Given the description of an element on the screen output the (x, y) to click on. 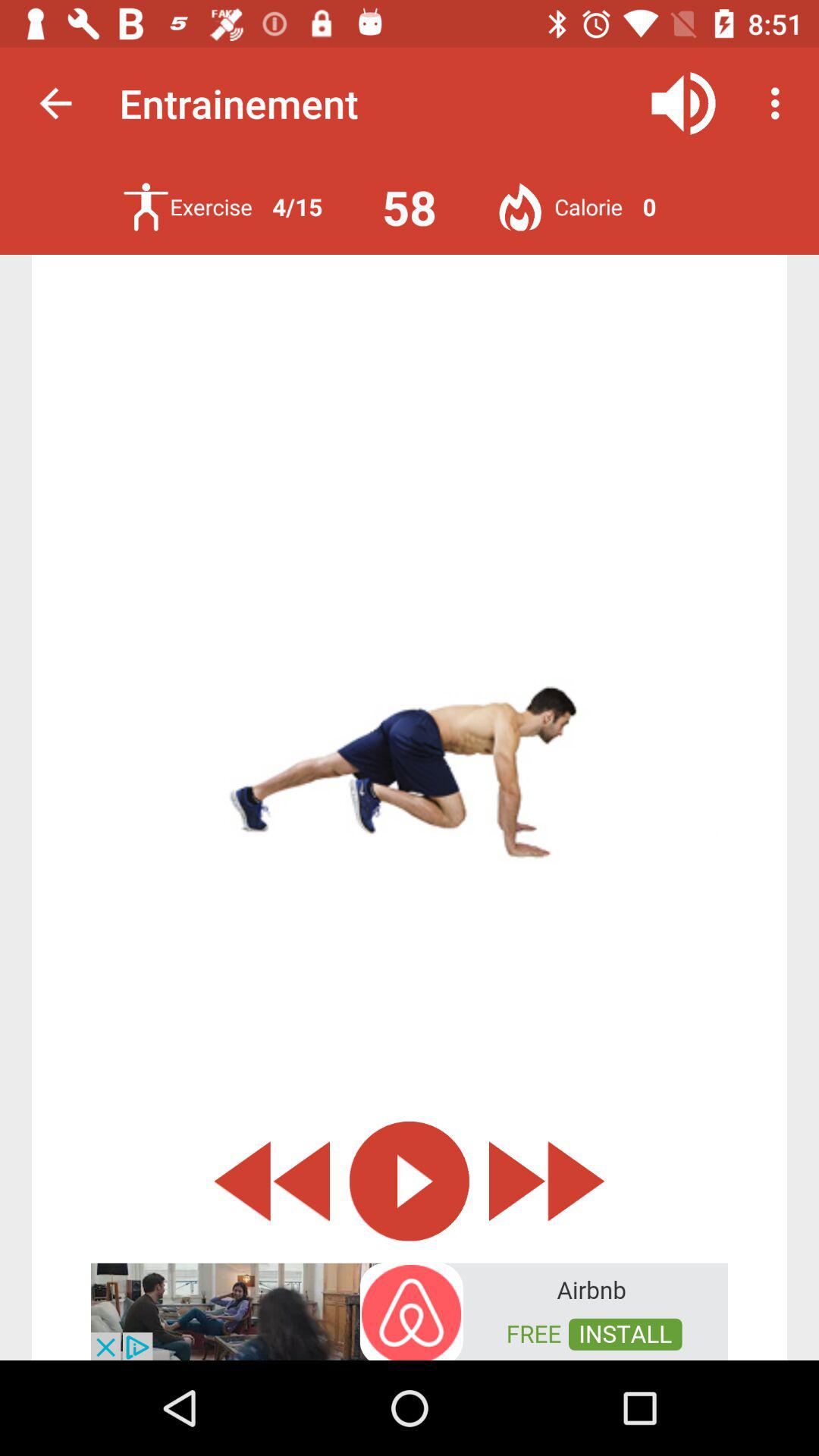
select volume (683, 103)
